Given the description of an element on the screen output the (x, y) to click on. 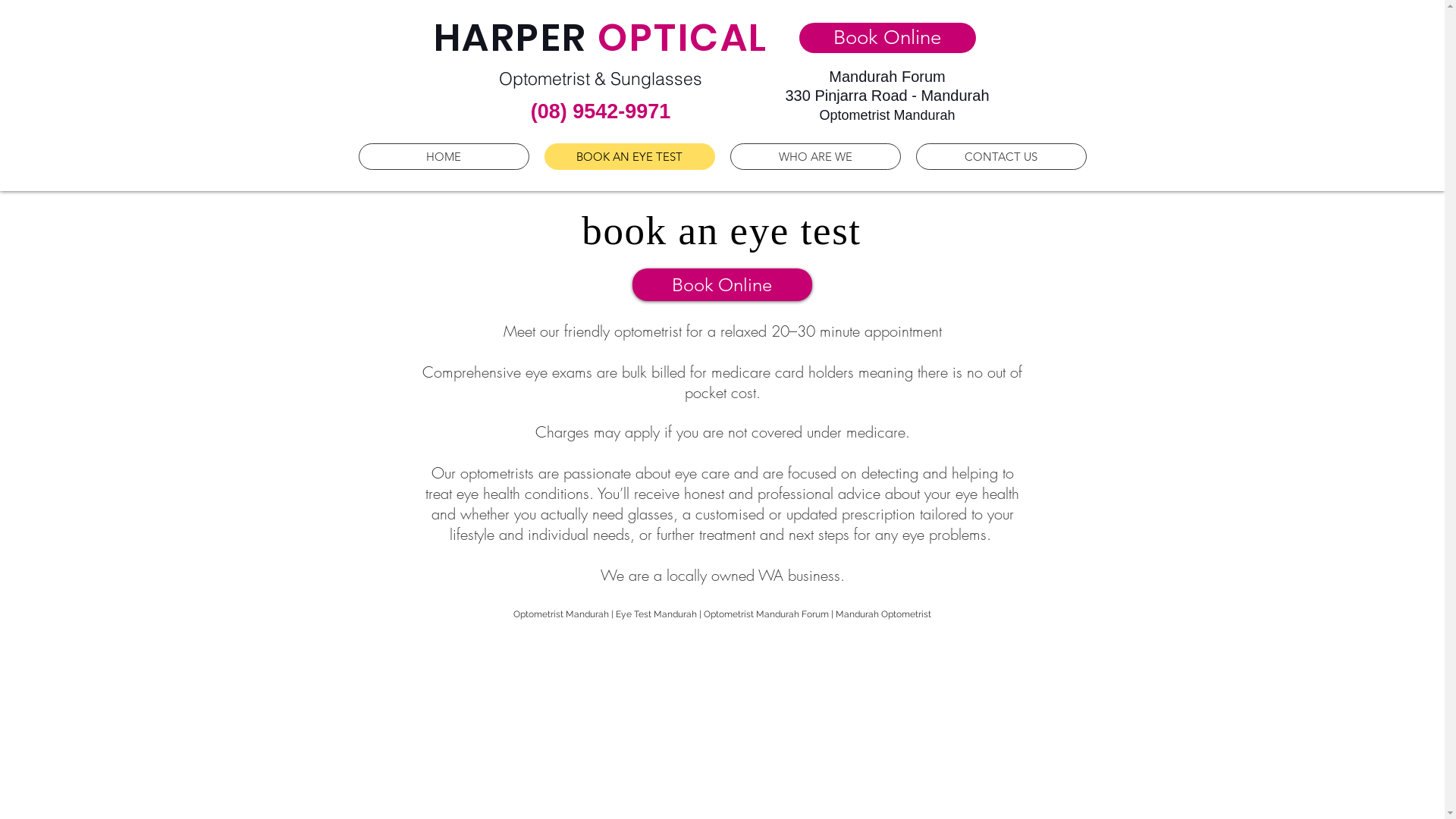
HOME Element type: text (442, 156)
Book Online Element type: text (887, 37)
BOOK AN EYE TEST Element type: text (629, 156)
Book Online Element type: text (722, 284)
WHO ARE WE Element type: text (814, 156)
CONTACT US Element type: text (1001, 156)
